Given the description of an element on the screen output the (x, y) to click on. 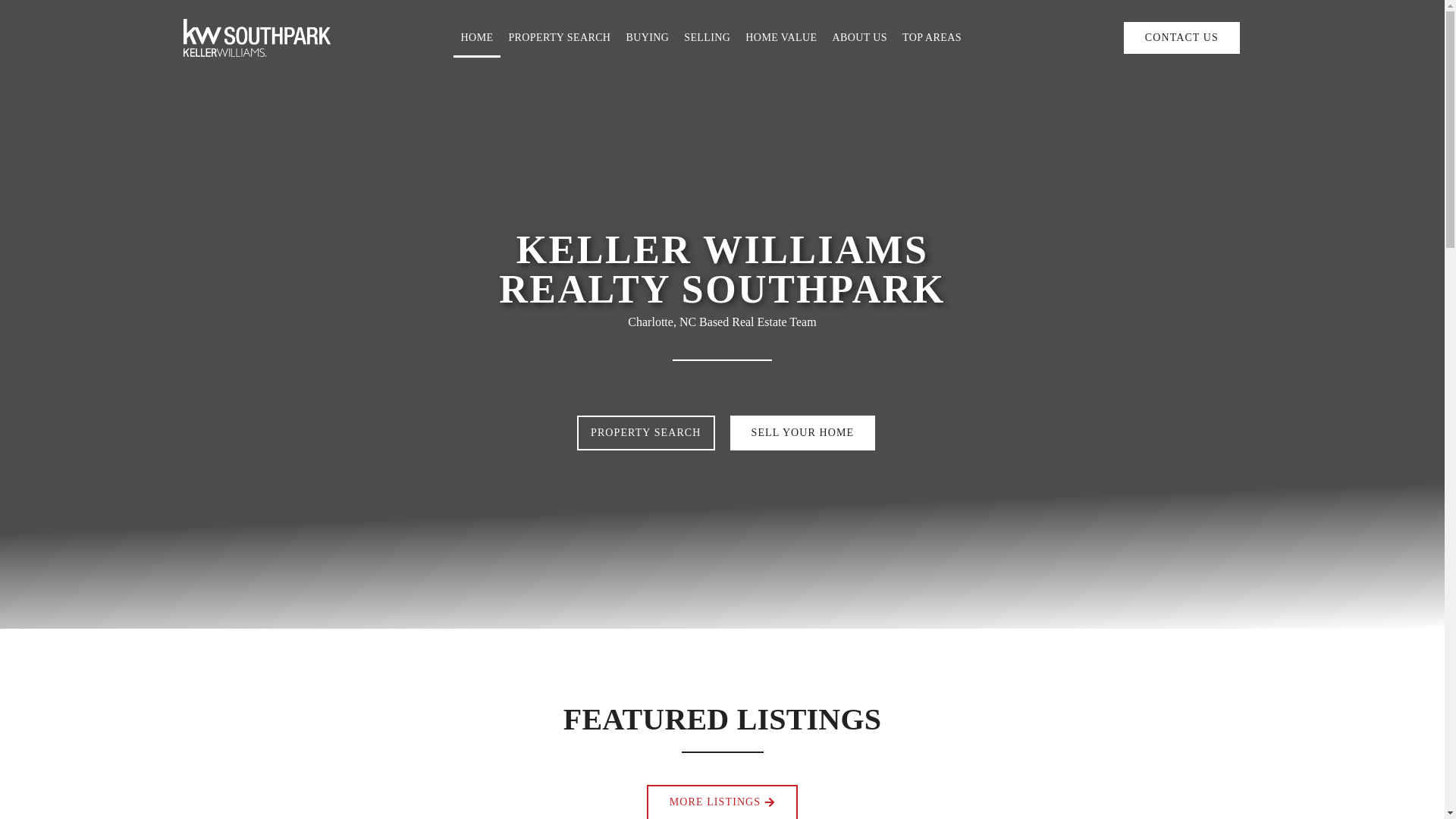
HOME VALUE (781, 37)
ABOUT US (859, 37)
SELLING (707, 37)
PROPERTY SEARCH (645, 432)
PROPERTY SEARCH (558, 37)
MORE LISTINGS (721, 801)
HOME (476, 37)
BUYING (647, 37)
SELL YOUR HOME (802, 432)
CONTACT US (1182, 37)
